Given the description of an element on the screen output the (x, y) to click on. 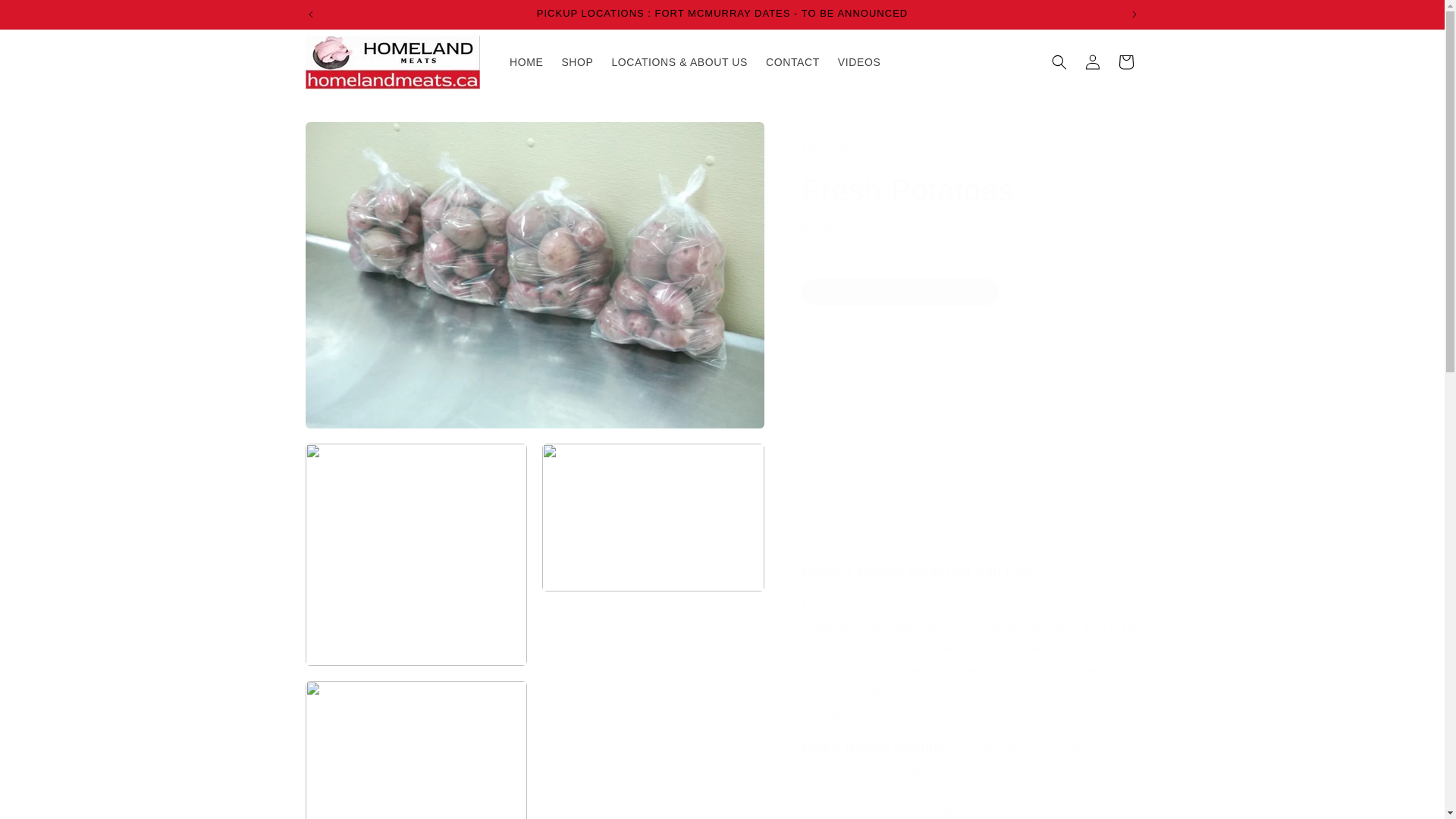
Skip to content (45, 17)
SHOP (576, 61)
CONTACT (792, 61)
Skip to product information (350, 139)
Add to cart (968, 444)
Decrease quantity for Fresh Potatoes (818, 389)
Increase quantity for Fresh Potatoes (891, 389)
1 (856, 389)
Open media 3 in modal (652, 554)
HOME (525, 61)
